Given the description of an element on the screen output the (x, y) to click on. 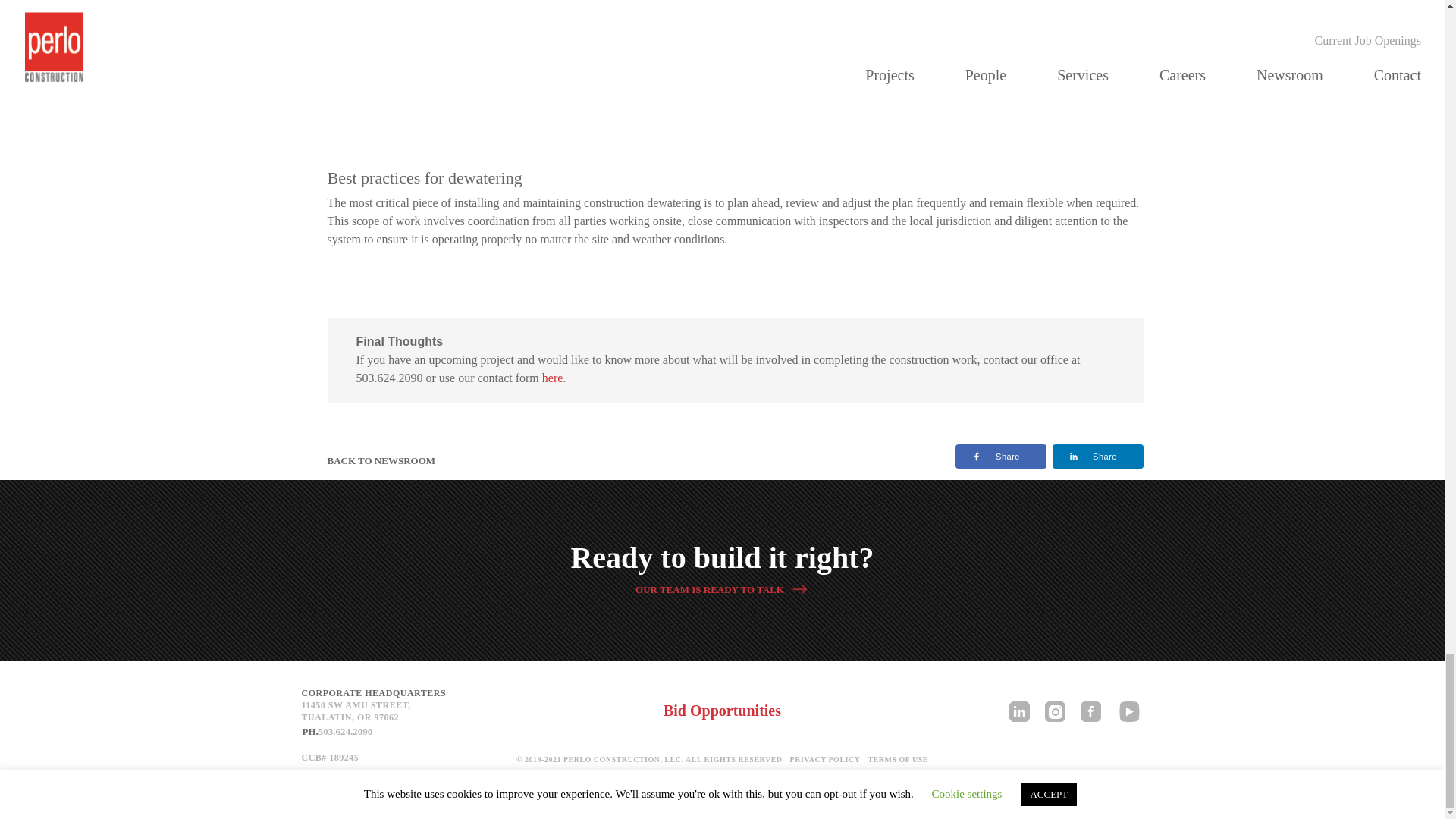
OUR TEAM IS READY TO TALK (721, 589)
Bid Opportunities (721, 710)
PRIVACY POLICY (376, 731)
Hopewell Digital (825, 759)
TERMS OF USE (742, 789)
BACK TO NEWSROOM (897, 759)
here (381, 460)
